Given the description of an element on the screen output the (x, y) to click on. 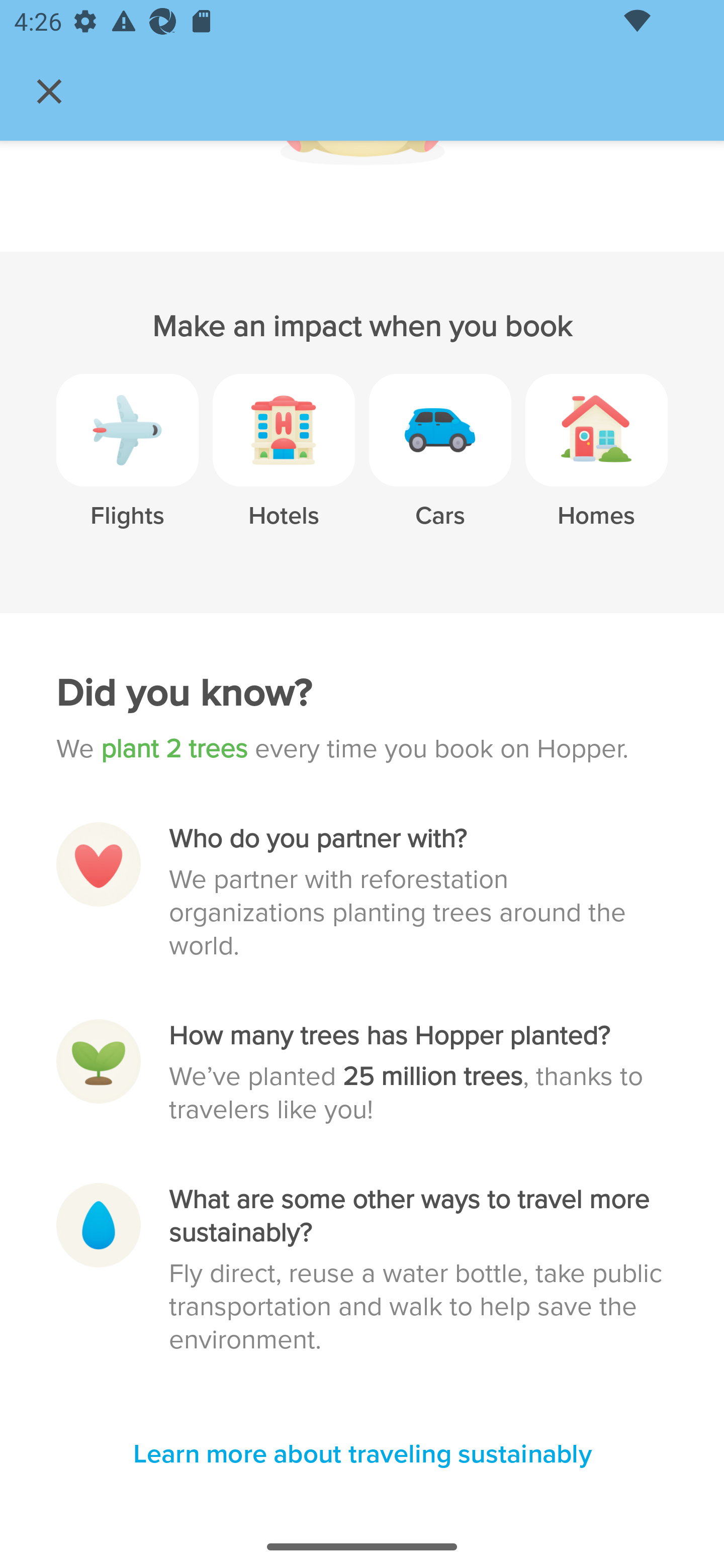
Navigate up (49, 91)
Flights (127, 464)
Hotels (283, 464)
Cars (440, 464)
Homes (596, 464)
‍Learn more about traveling sustainably (361, 1454)
